Given the description of an element on the screen output the (x, y) to click on. 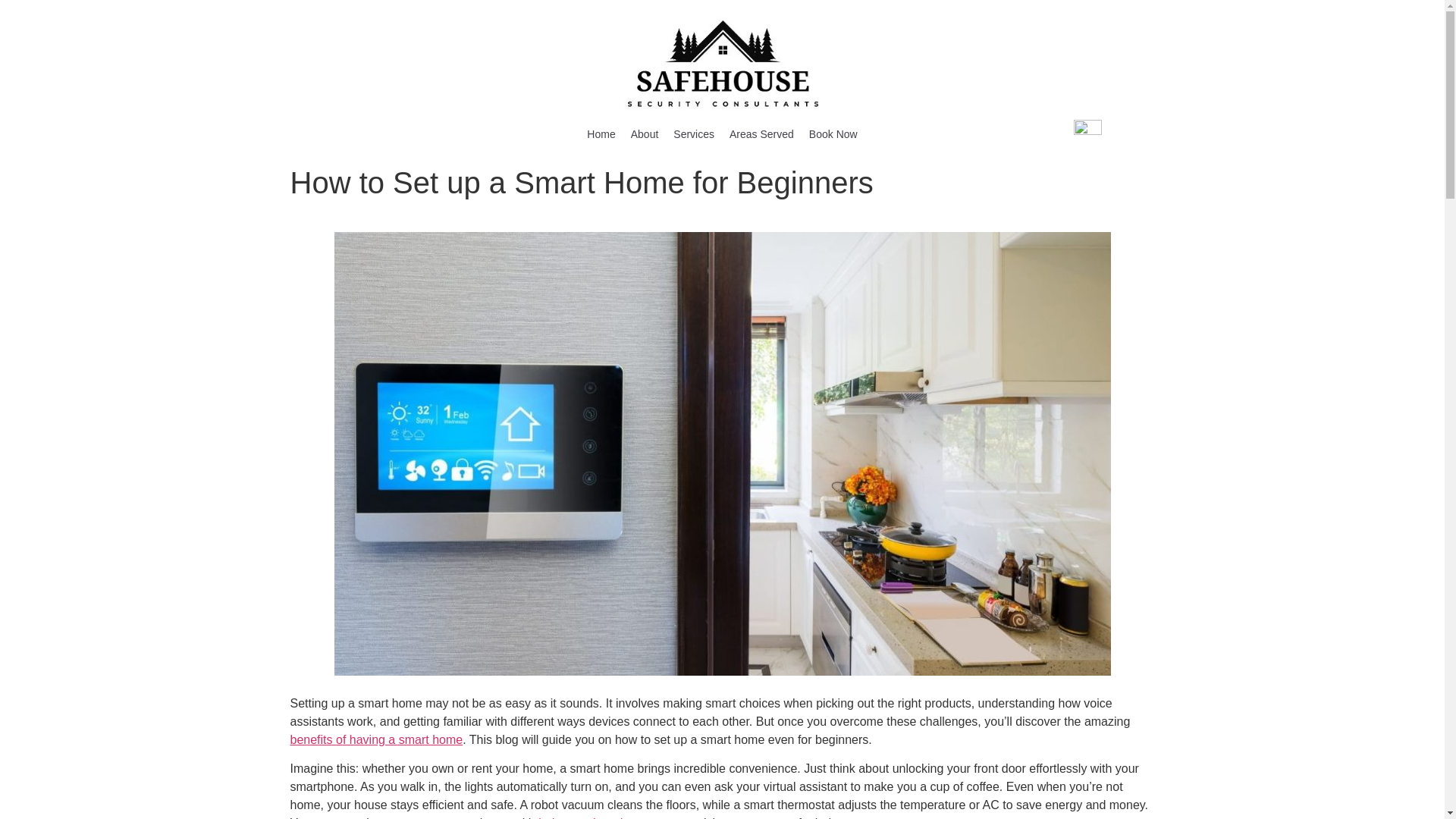
Book Now (833, 133)
Services (693, 133)
Home (601, 133)
About (644, 133)
Areas Served (762, 133)
